Given the description of an element on the screen output the (x, y) to click on. 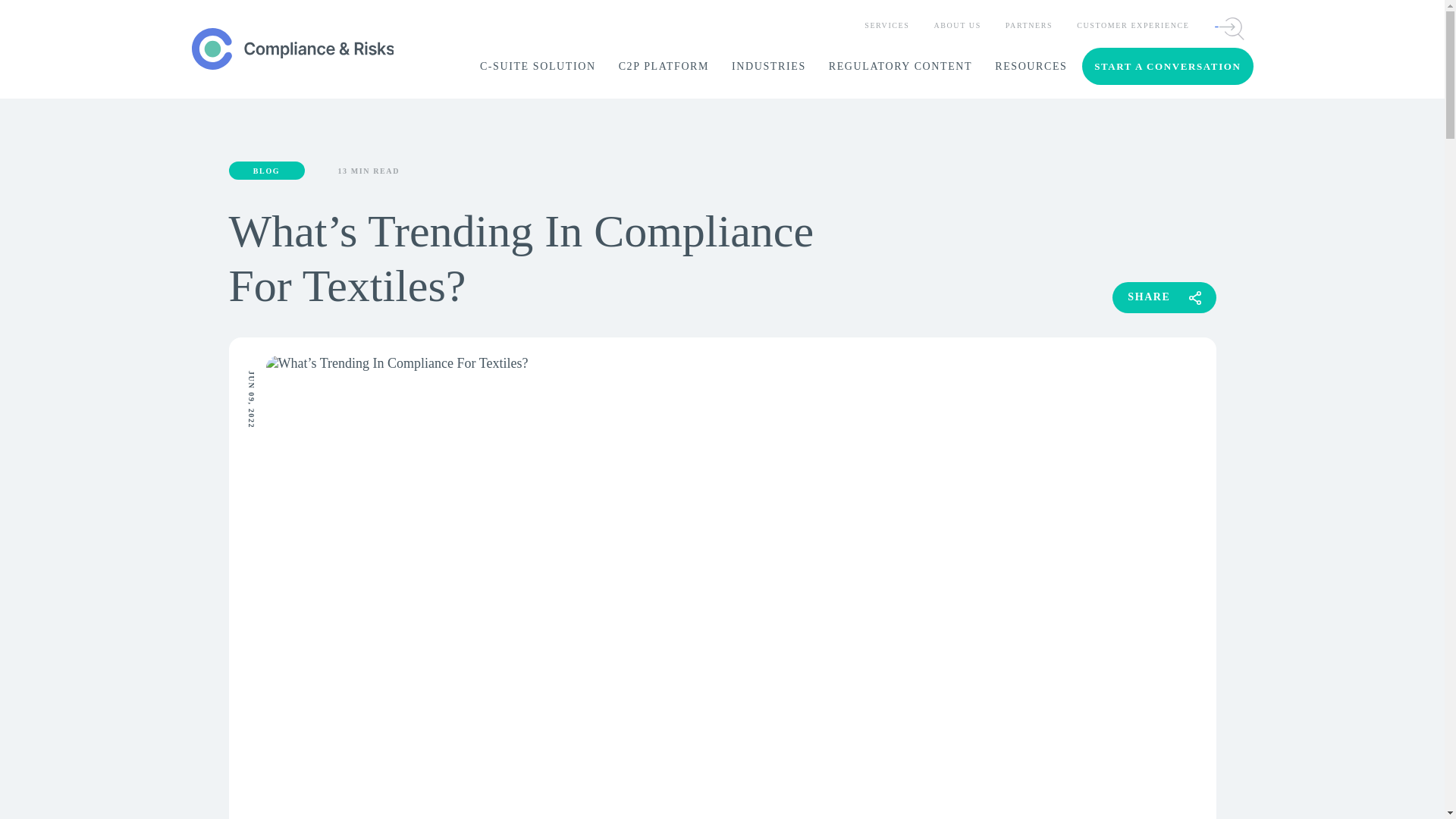
INDUSTRIES (769, 66)
C-SUITE SOLUTION (537, 66)
REGULATORY CONTENT (900, 66)
C2P PLATFORM (663, 66)
